Given the description of an element on the screen output the (x, y) to click on. 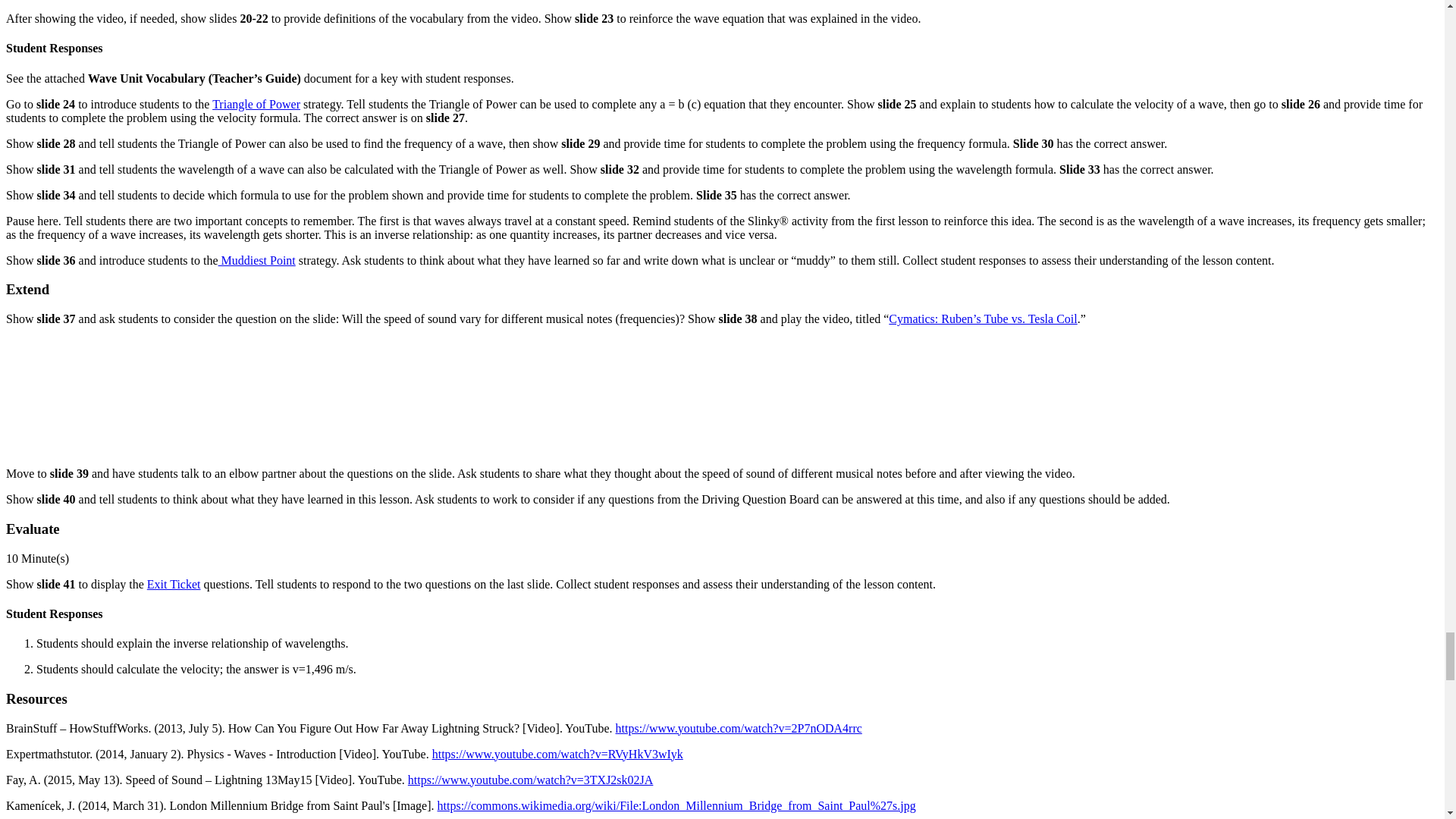
Triangle of Power (255, 103)
Muddiest Point (256, 259)
Exit Ticket (173, 584)
